Given the description of an element on the screen output the (x, y) to click on. 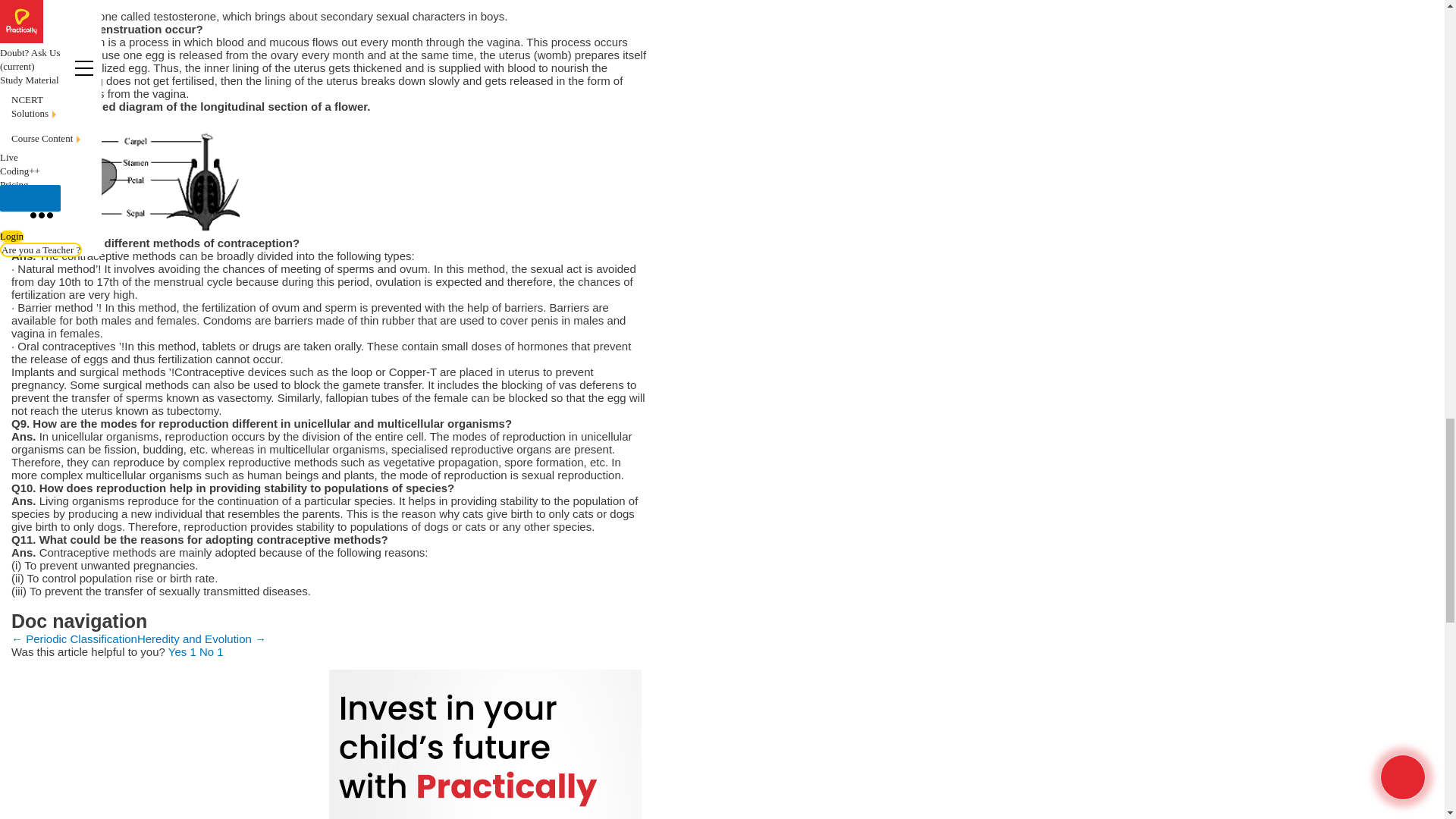
1 person found this useful (183, 651)
1 person found this not useful (211, 651)
